Given the description of an element on the screen output the (x, y) to click on. 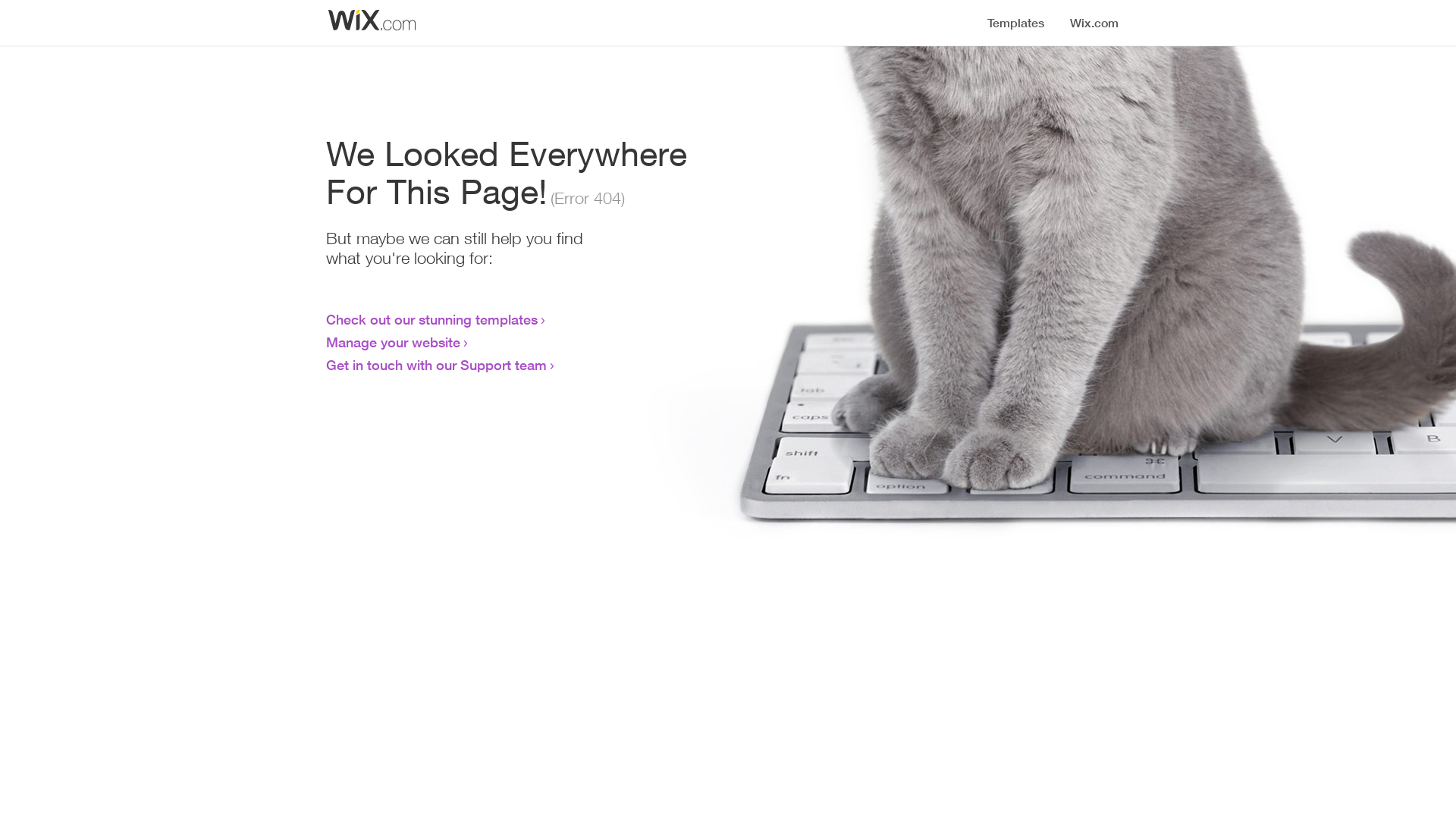
Manage your website Element type: text (393, 341)
Check out our stunning templates Element type: text (431, 318)
Get in touch with our Support team Element type: text (436, 364)
